Given the description of an element on the screen output the (x, y) to click on. 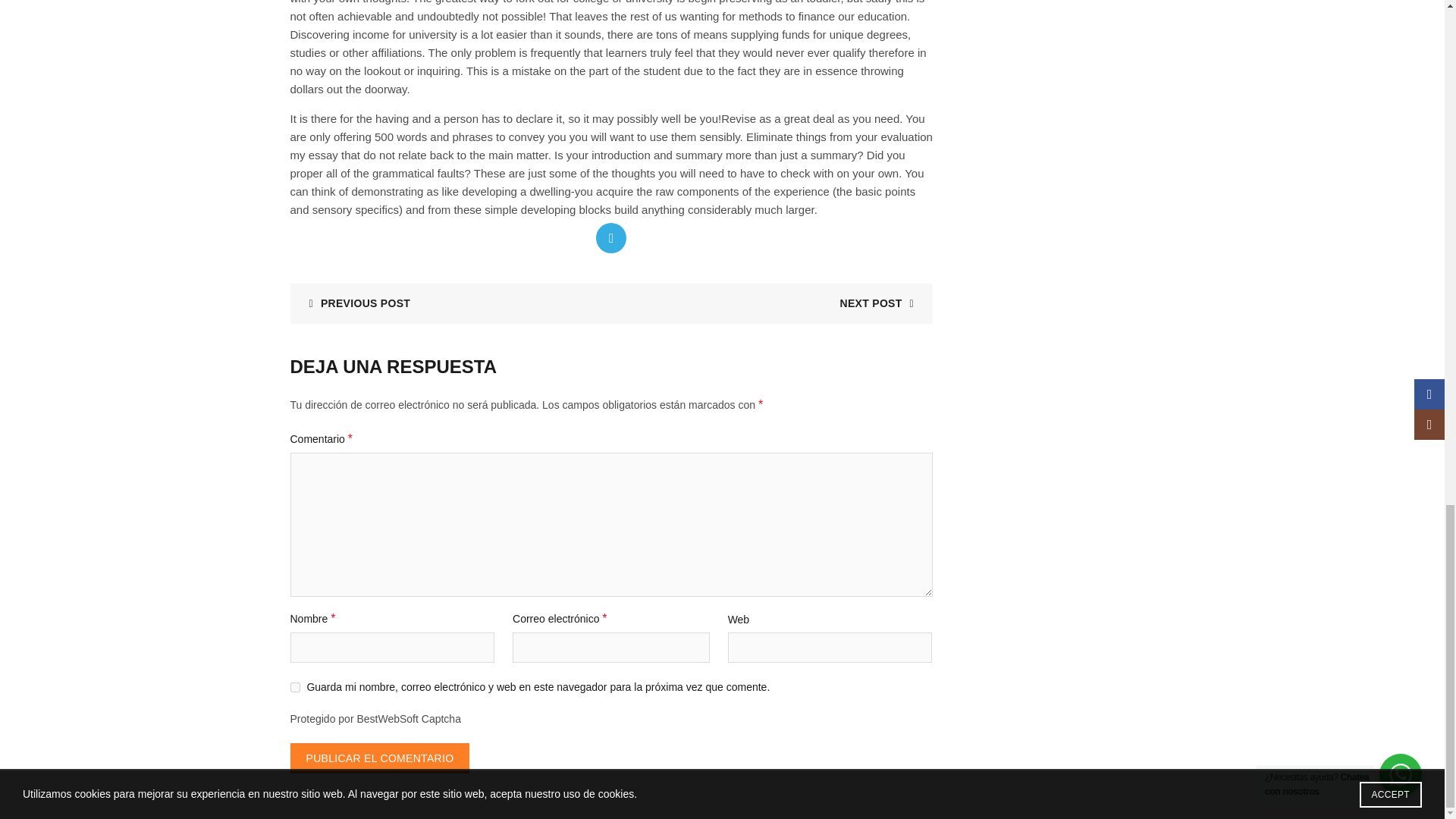
Telegram (610, 237)
PREVIOUS POST (353, 303)
Publicar el comentario (378, 757)
NEXT POST (882, 303)
yes (294, 686)
Publicar el comentario (378, 757)
